Given the description of an element on the screen output the (x, y) to click on. 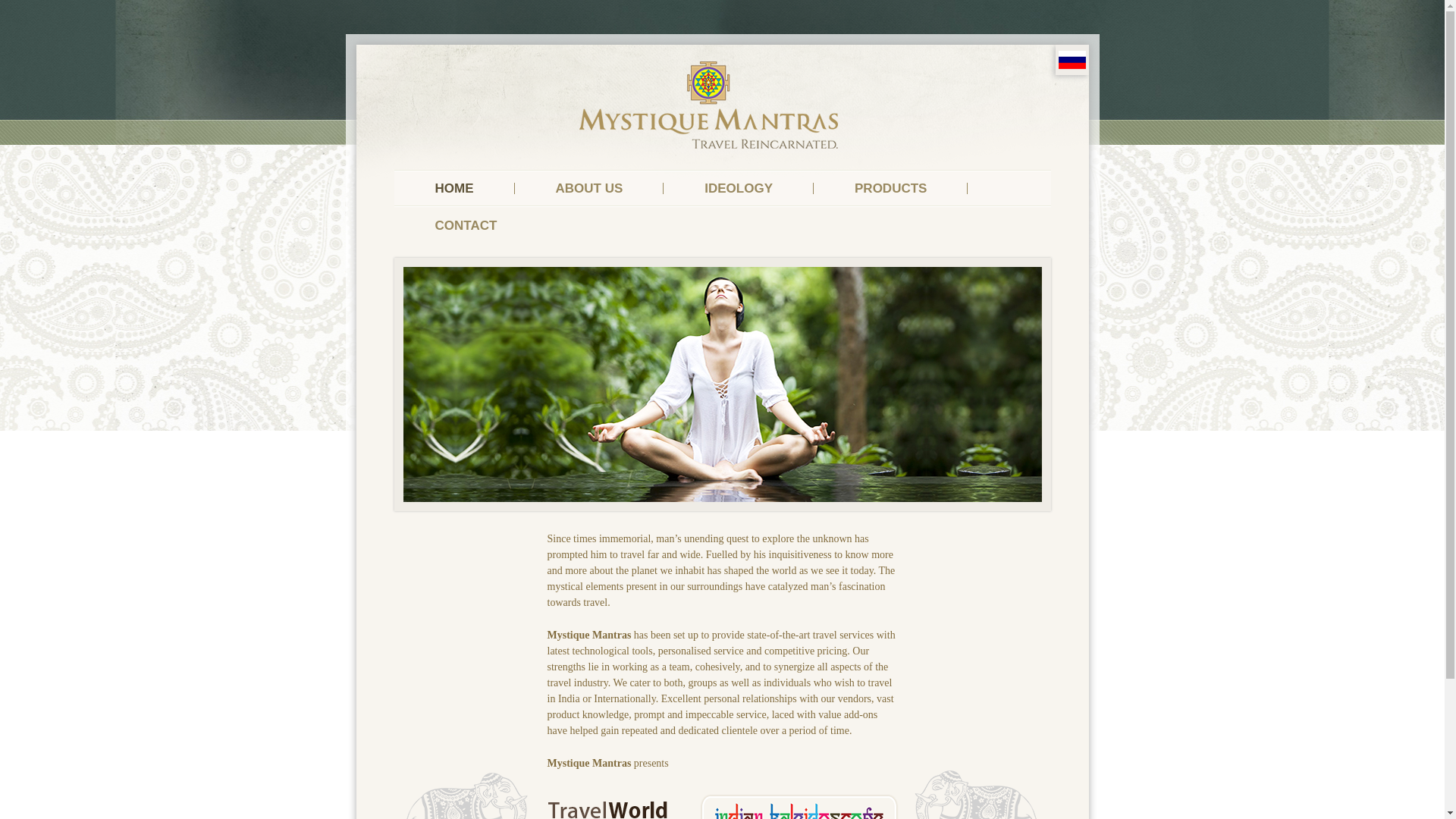
PRODUCTS (890, 188)
ABOUT US (588, 188)
CONTACT (466, 225)
HOME (454, 188)
IDEOLOGY (738, 188)
Russia (1072, 59)
